Given the description of an element on the screen output the (x, y) to click on. 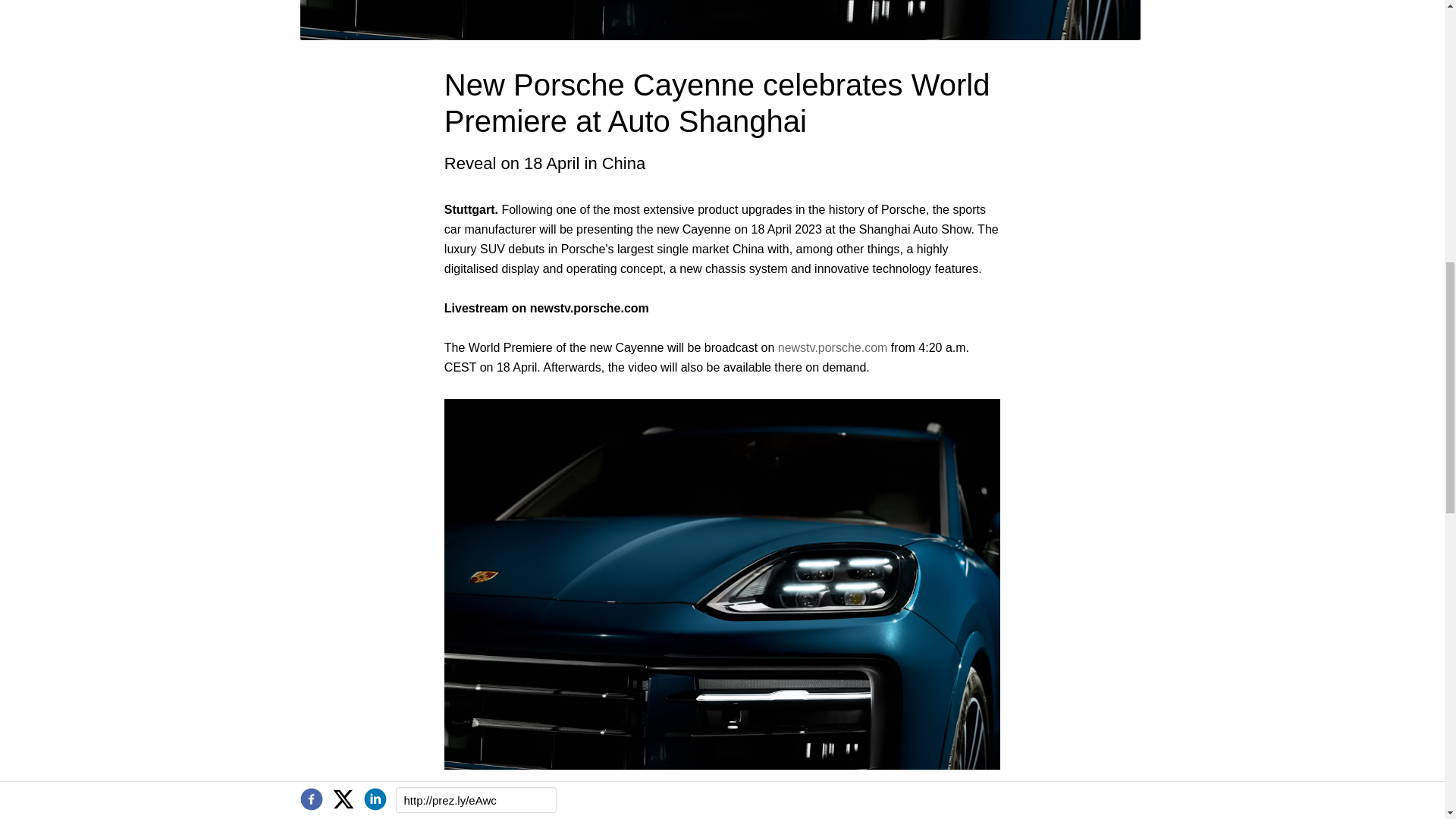
newstv.porsche.com (832, 347)
